Given the description of an element on the screen output the (x, y) to click on. 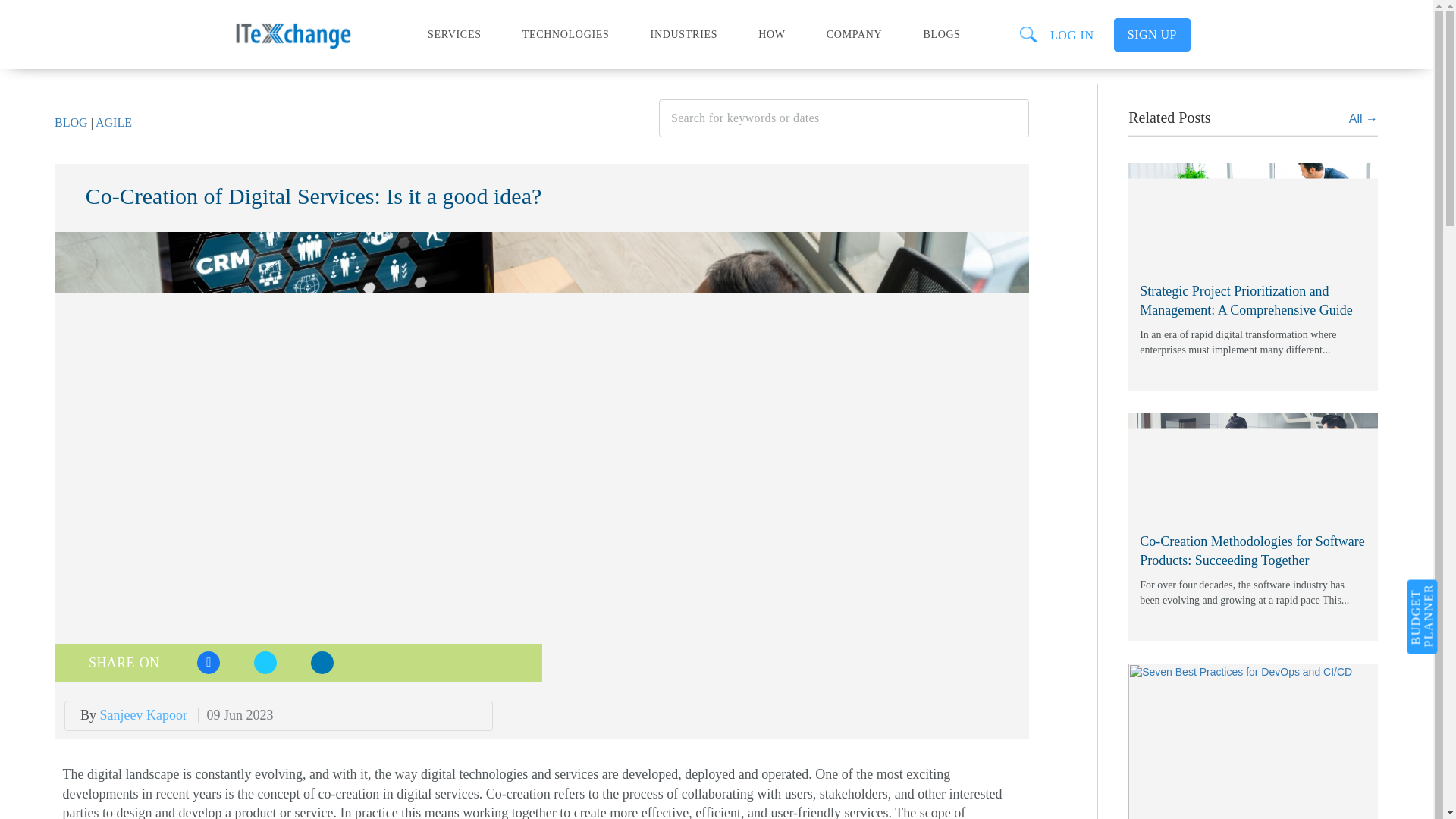
AGILE (114, 122)
Go to HomePage (322, 26)
COMPANY (854, 28)
BLOG (71, 122)
SERVICES (454, 28)
Sanjeev Kapoor (144, 714)
